Given the description of an element on the screen output the (x, y) to click on. 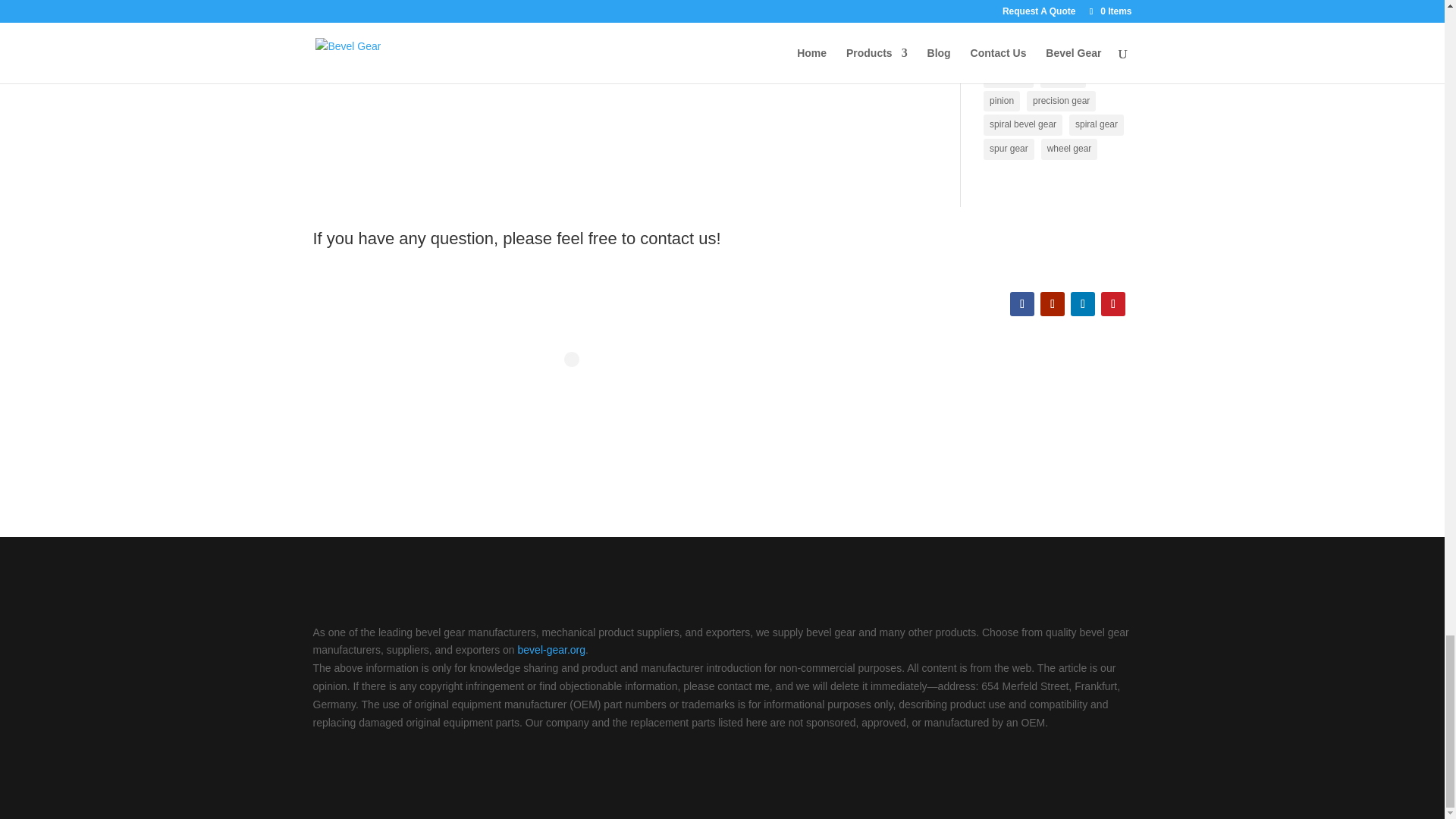
Follow on Pinterest (1112, 303)
Follow on LinkedIn (1082, 303)
Follow on Youtube (1052, 303)
Follow on Facebook (1021, 303)
